Given the description of an element on the screen output the (x, y) to click on. 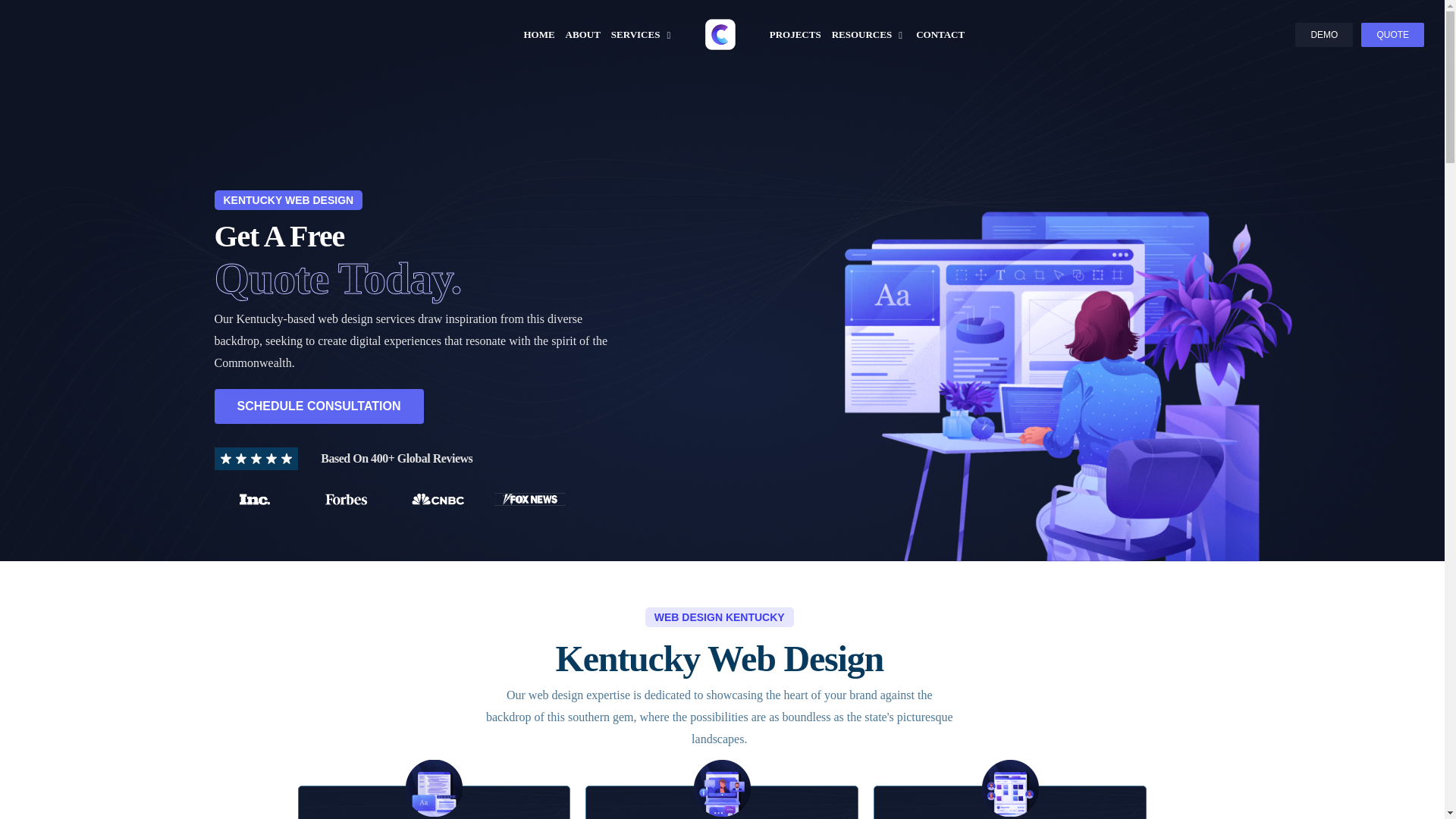
Project Manager 2 (1010, 788)
SERVICES (636, 34)
RESOURCES (861, 34)
Website Design (434, 788)
PROJECTS (795, 34)
CONTACT (939, 34)
Dedicated Support (722, 788)
HOME (538, 34)
ABOUT (582, 34)
